Given the description of an element on the screen output the (x, y) to click on. 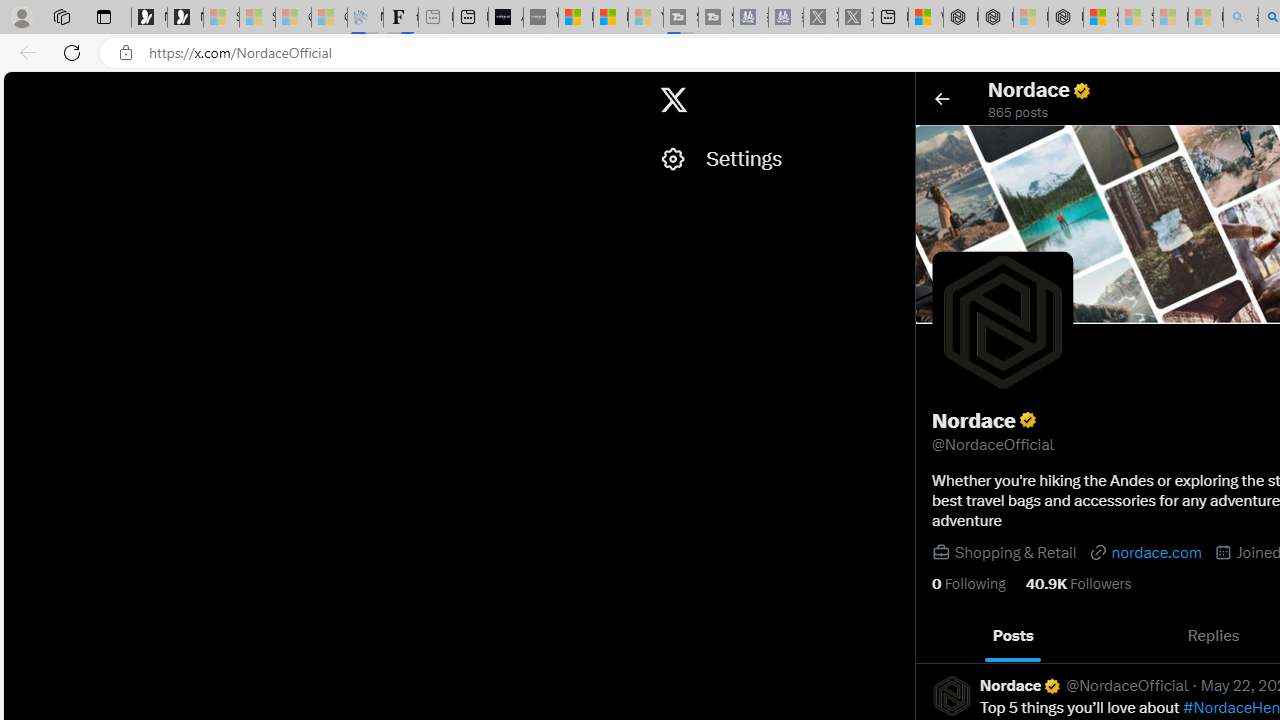
nordace.com (1144, 552)
Nordace Verified account (1021, 685)
